Given the description of an element on the screen output the (x, y) to click on. 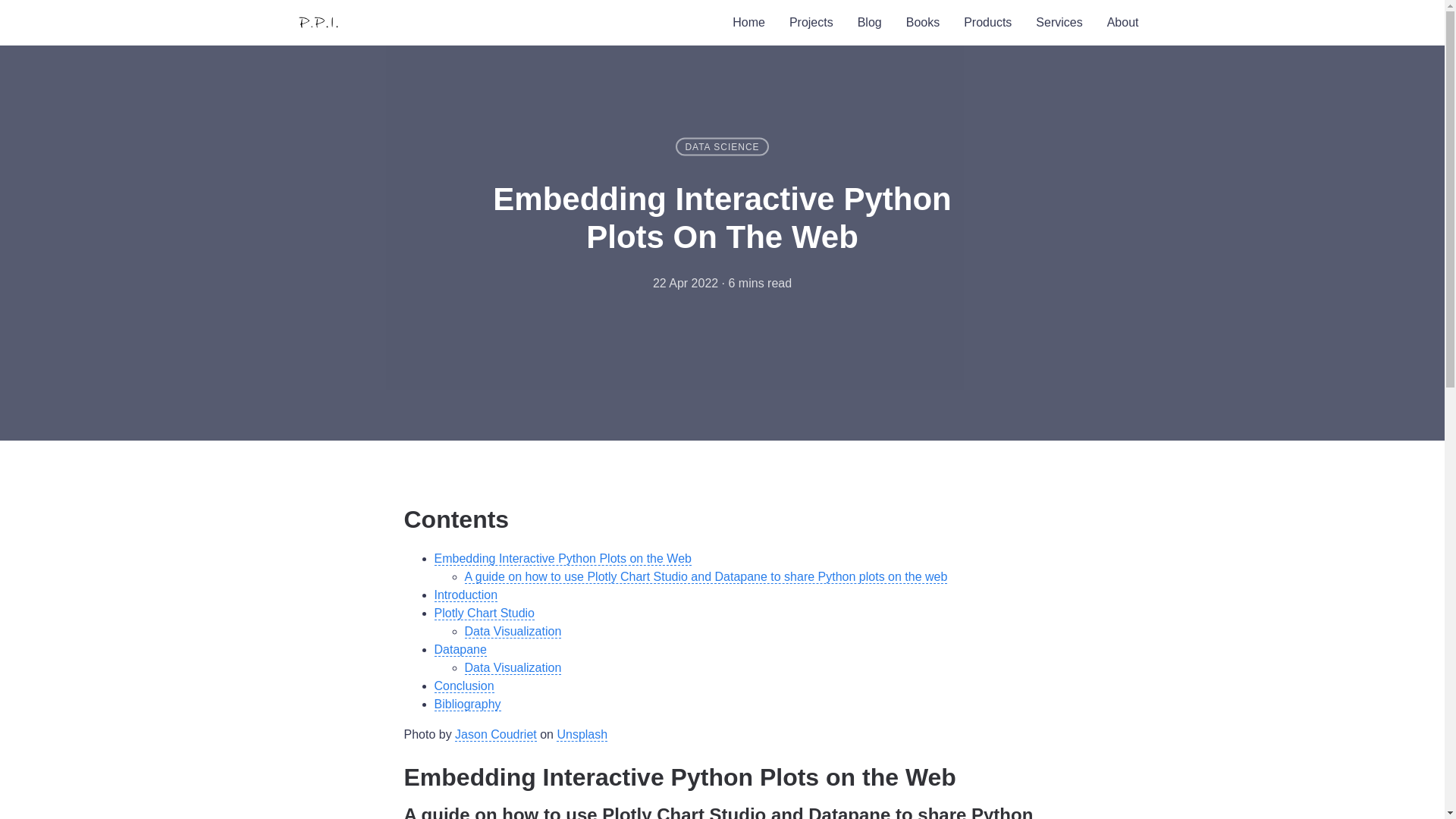
Products (987, 22)
Introduction (465, 594)
Jason Coudriet (495, 735)
About (1122, 22)
Home (748, 22)
Services (1058, 22)
Data Visualization (512, 631)
Datapane (459, 649)
Conclusion (463, 685)
